Given the description of an element on the screen output the (x, y) to click on. 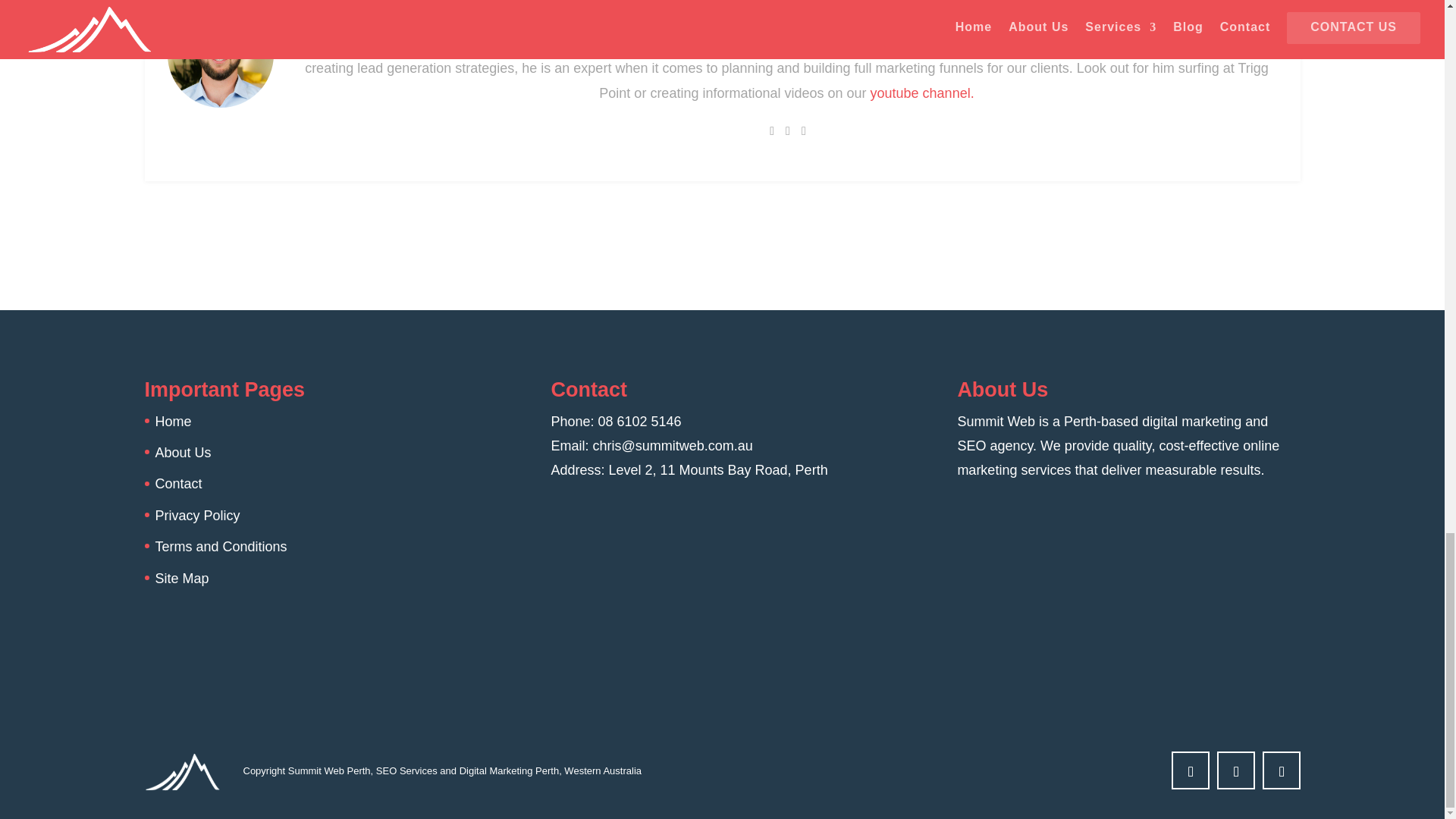
Privacy Policy (197, 515)
08 6102 5146 (638, 421)
Contact (178, 483)
Home (172, 421)
About Us (182, 452)
Terms and Conditions (220, 546)
Site Map (181, 578)
youtube channel. (922, 111)
